Given the description of an element on the screen output the (x, y) to click on. 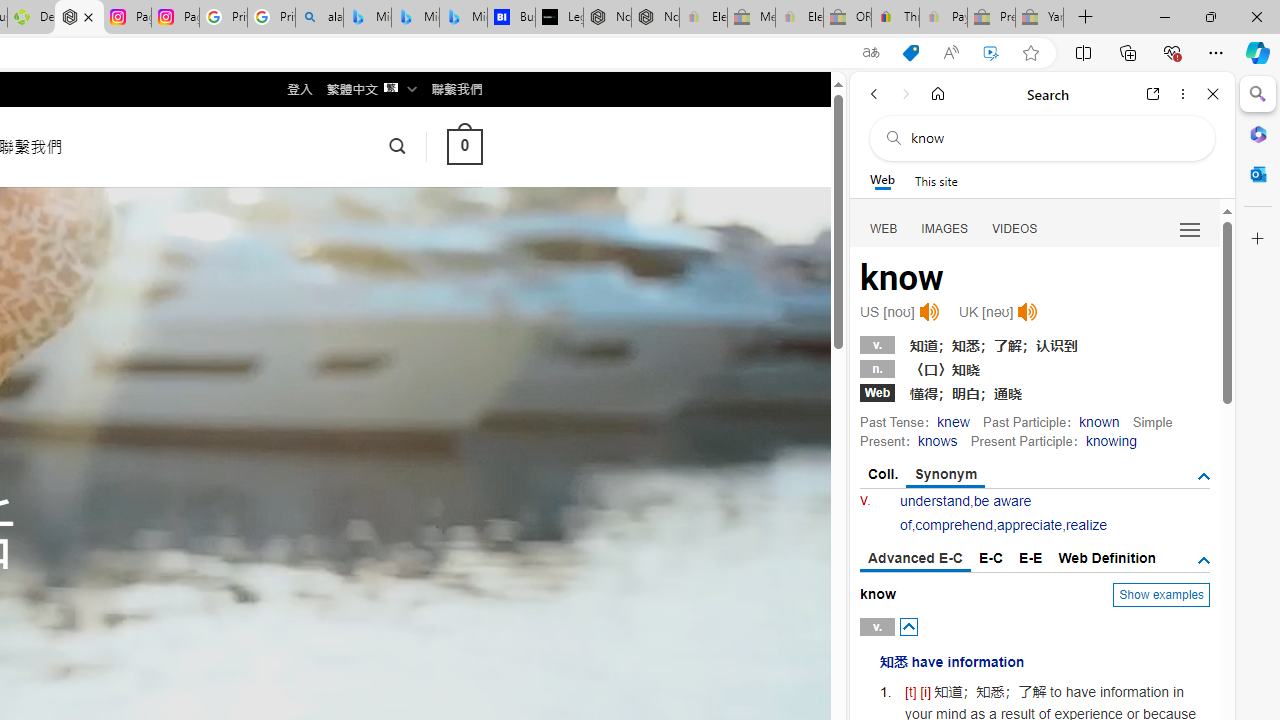
understand (935, 501)
known (1099, 421)
realize (1086, 524)
Payments Terms of Use | eBay.com - Sleeping (943, 17)
